Given the description of an element on the screen output the (x, y) to click on. 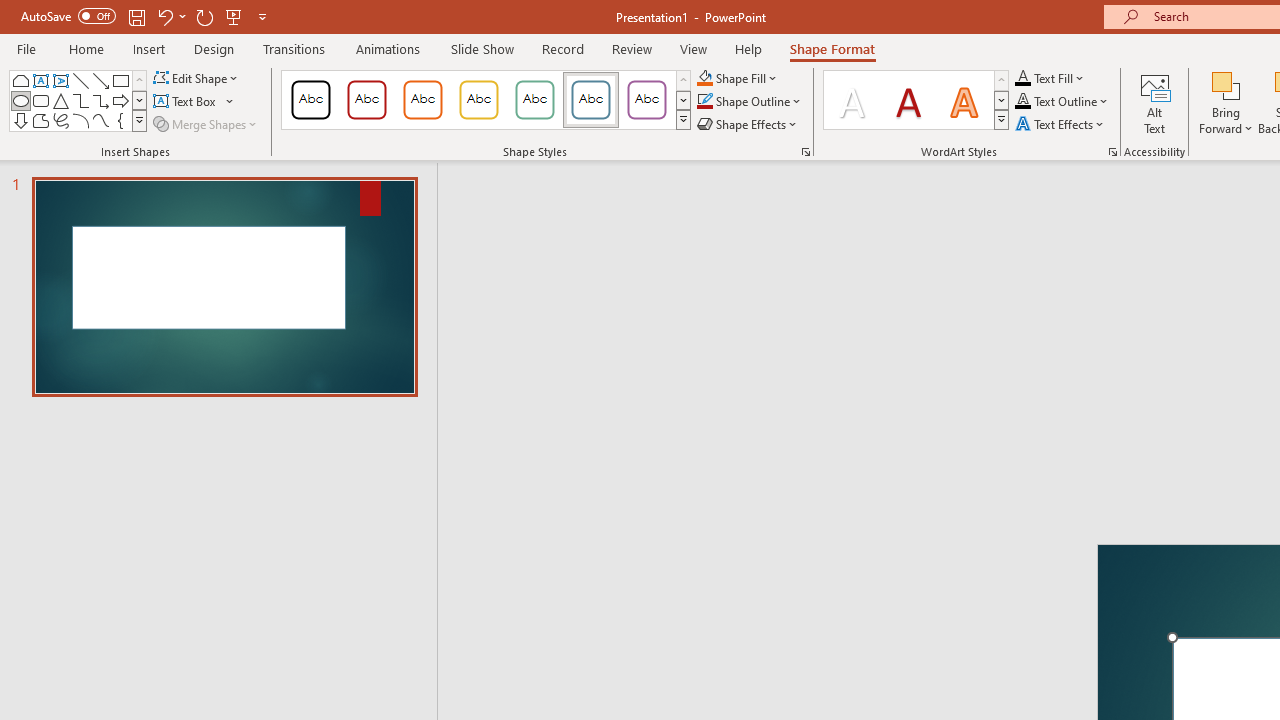
Colored Outline - Gold, Accent 3 (478, 100)
Colored Outline - Blue-Gray, Accent 5 (591, 100)
Text Outline (1062, 101)
AutomationID: ShapeStylesGallery (486, 99)
Merge Shapes (206, 124)
Fill: White, Text color 1; Shadow (852, 100)
Shape Fill Orange, Accent 2 (704, 78)
Format Text Effects... (1112, 151)
